Given the description of an element on the screen output the (x, y) to click on. 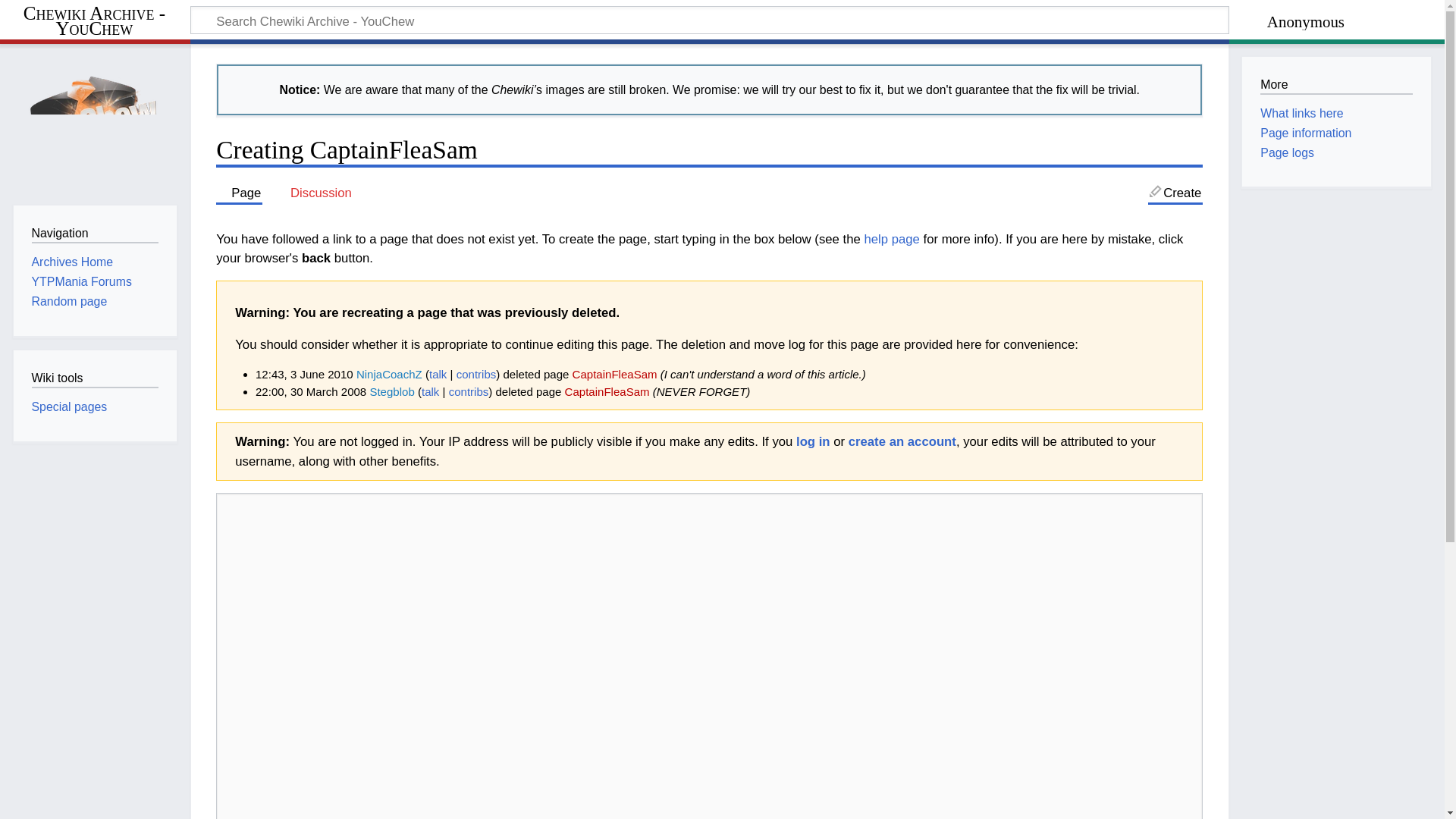
Page (238, 192)
Page information (1305, 132)
Stegblob (391, 391)
Search the pages for this text (1193, 22)
Search (1193, 22)
Discussion (314, 192)
Archives Home (72, 261)
User talk:Stegblob (430, 391)
User:NinjaCoachZ (389, 373)
contribs (476, 373)
